Given the description of an element on the screen output the (x, y) to click on. 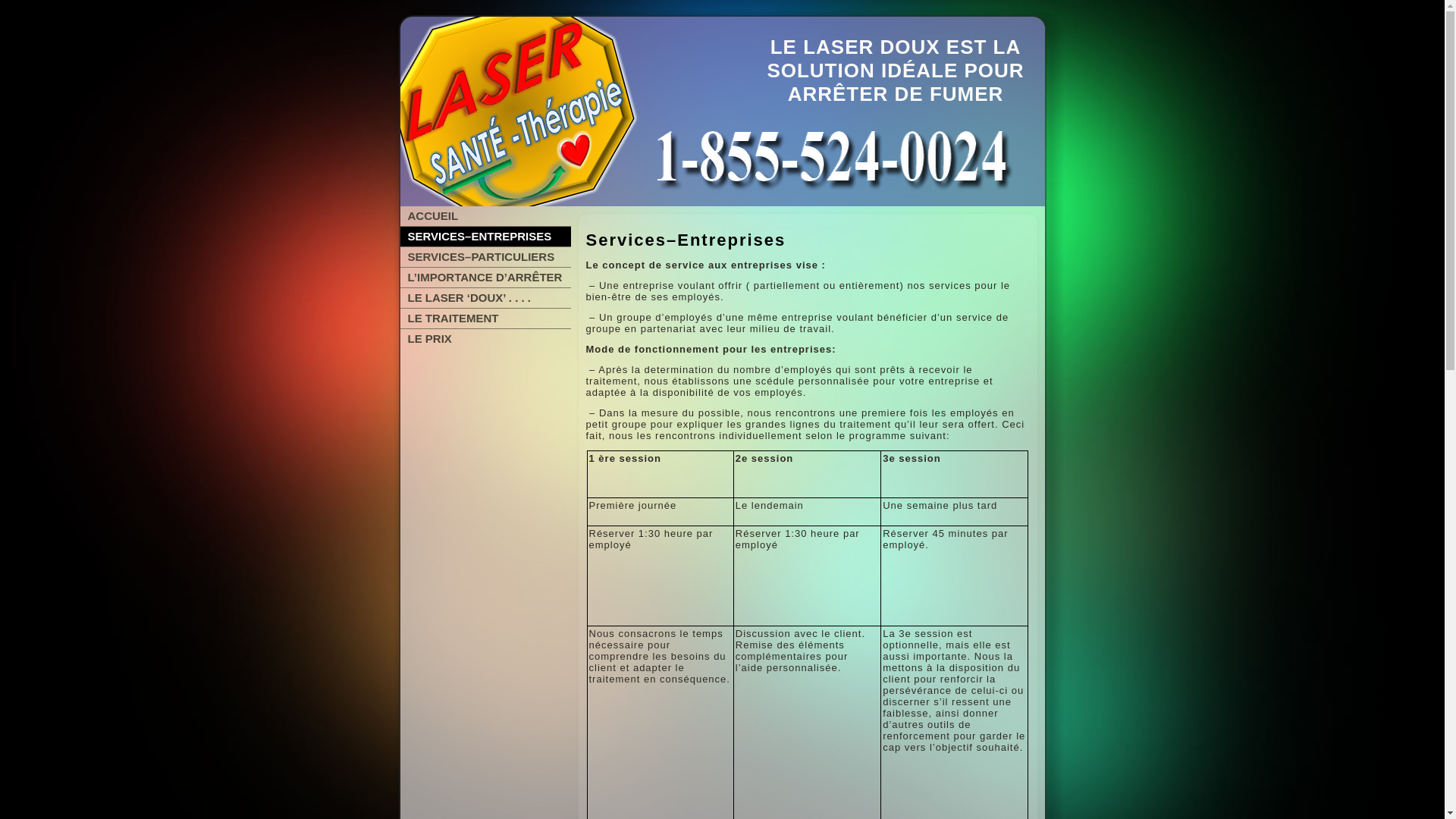
LE TRAITEMENT Element type: text (485, 318)
LE PRIX Element type: text (485, 338)
ACCUEIL Element type: text (485, 215)
